Given the description of an element on the screen output the (x, y) to click on. 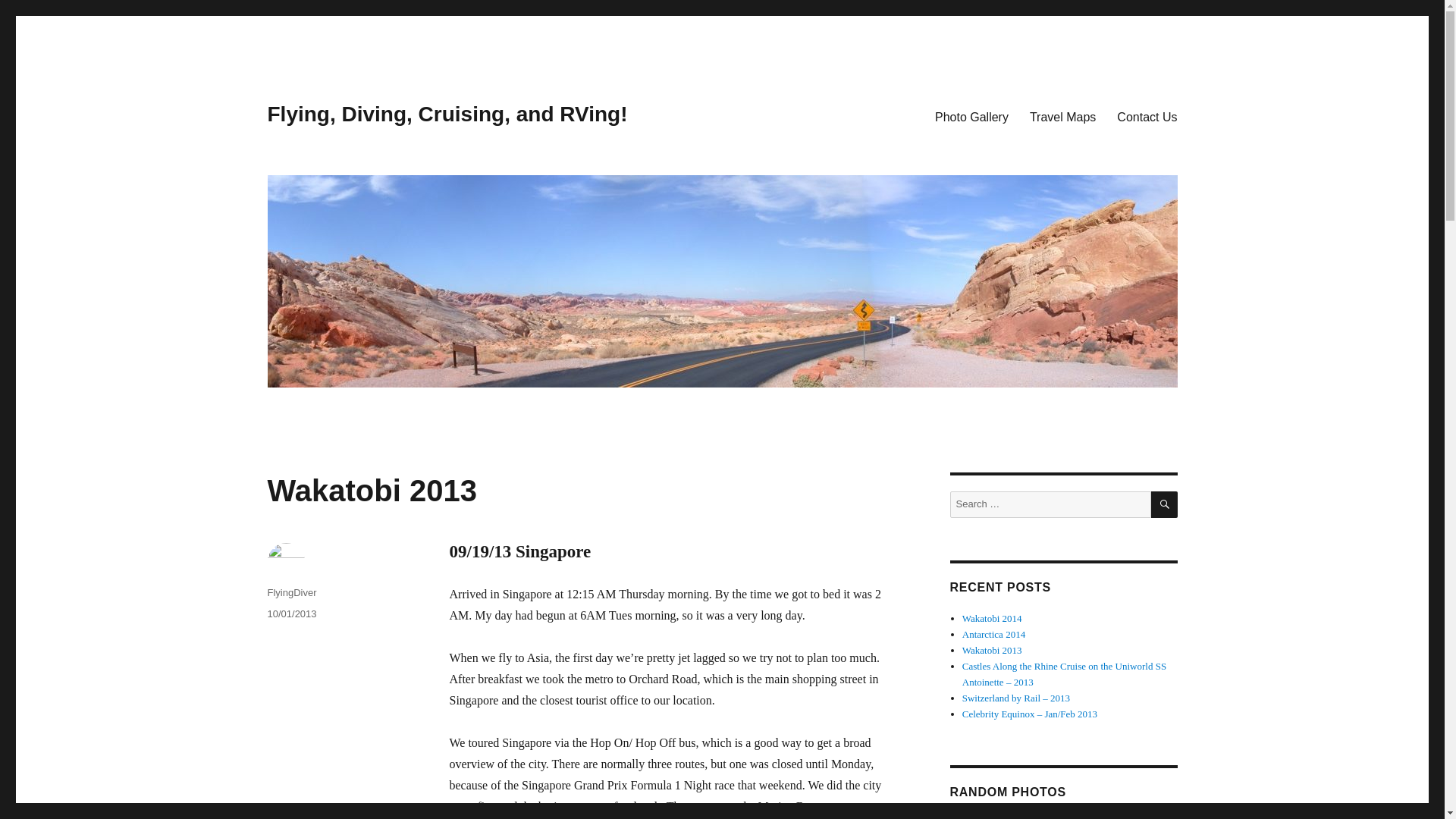
SEARCH (1164, 504)
Travel Maps (1062, 116)
Flying, Diving, Cruising, and RVing! (446, 114)
Wakatobi 2014 (992, 618)
Wakatobi 2013 (992, 650)
Photo Gallery (971, 116)
Antarctica 2014 (993, 633)
FlyingDiver (290, 592)
Contact Us (1147, 116)
